Given the description of an element on the screen output the (x, y) to click on. 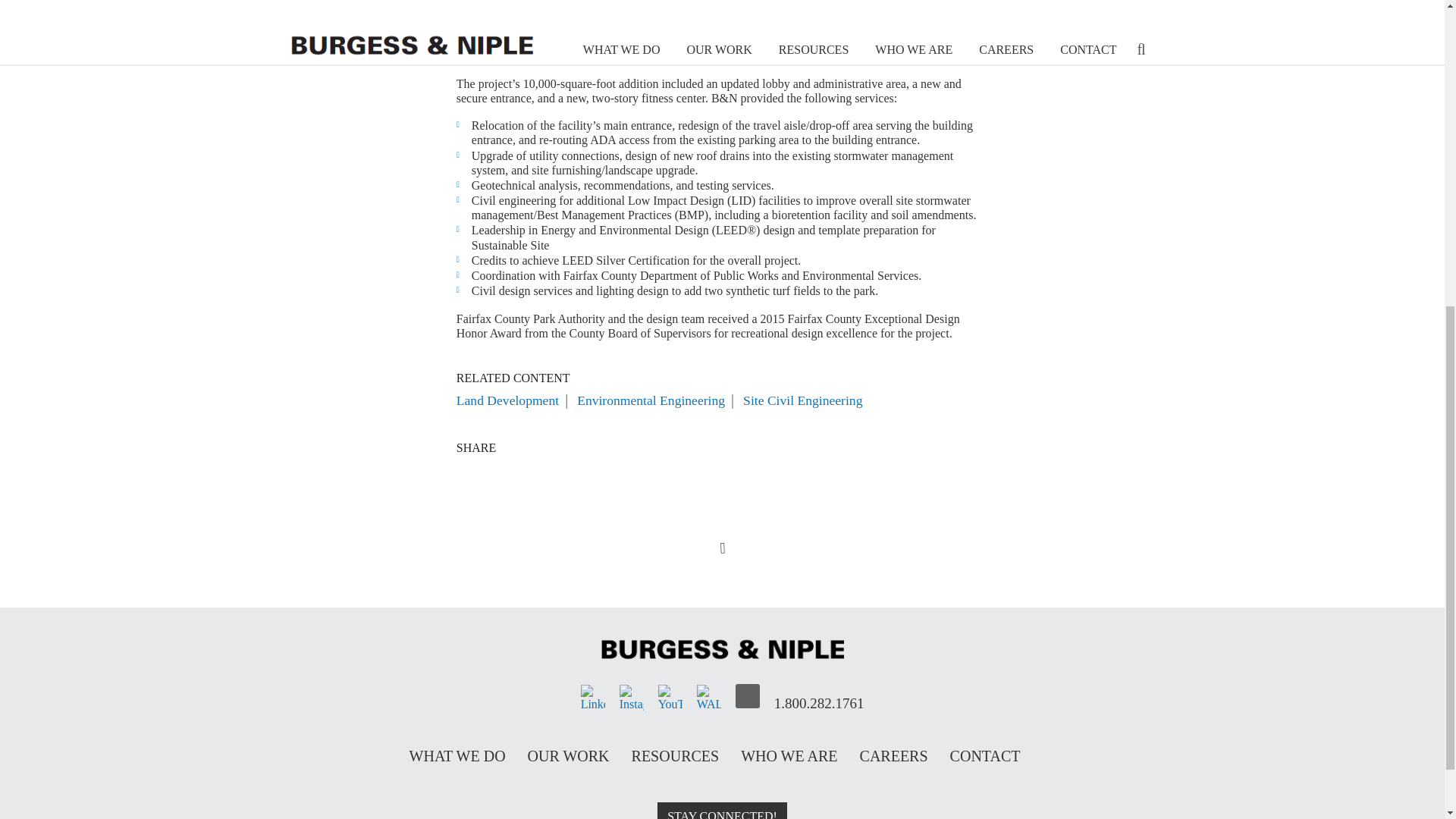
Follow us on Instagram (631, 696)
Environmental Engineering (650, 400)
WHAT WE DO (457, 755)
1.800.282.1761 (819, 695)
CONTACT (985, 755)
Follow us on YouTube (670, 696)
Follow us on SoundCloud (747, 695)
OUR WORK (568, 755)
Follow us on LinkedIn (592, 696)
WHO WE ARE (789, 755)
Land Development (508, 400)
Follow us on WALLS.IO (708, 696)
RESOURCES (675, 755)
